Given the description of an element on the screen output the (x, y) to click on. 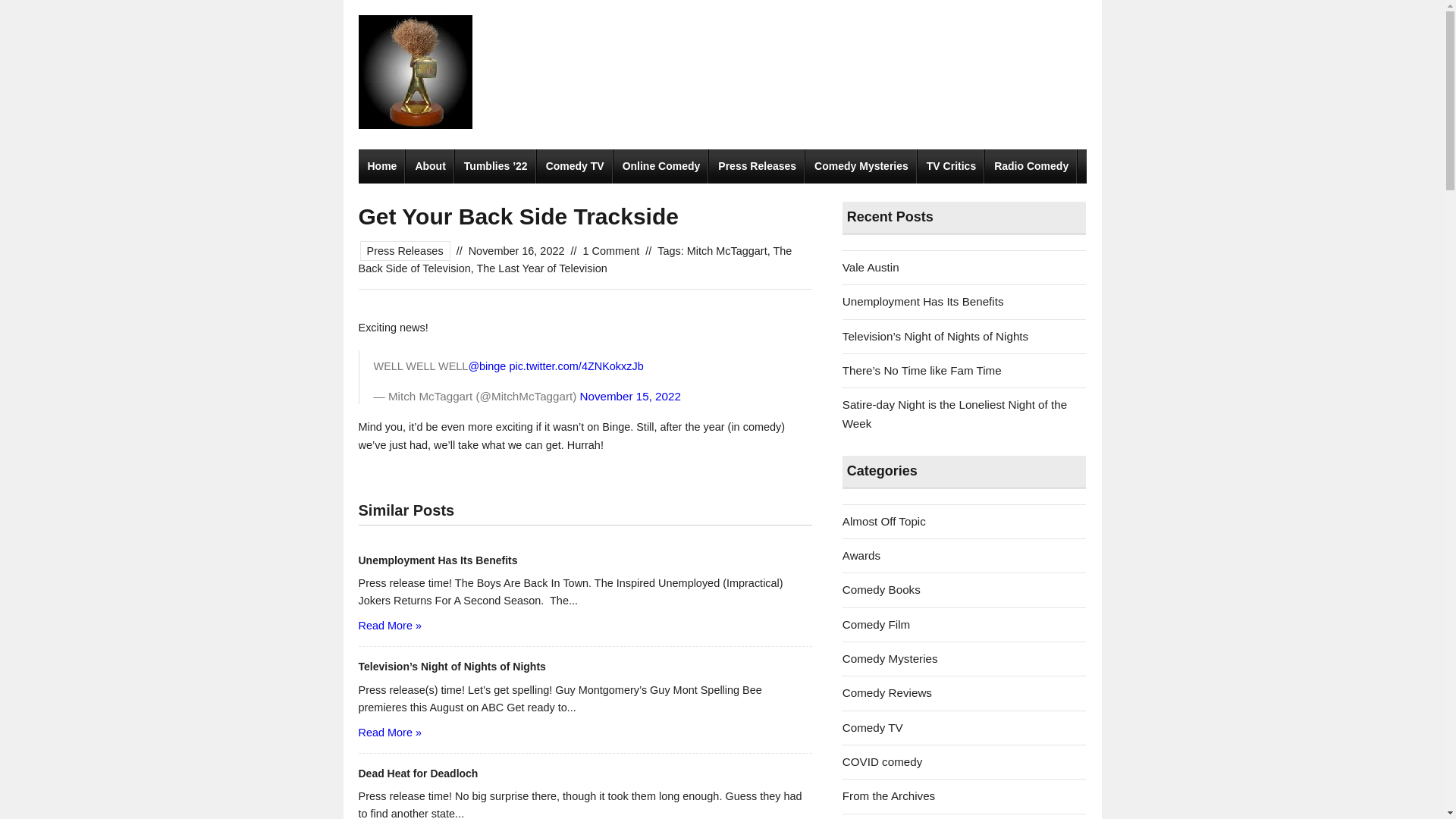
Radio Comedy (1031, 166)
Press Releases (404, 250)
1 Comment (611, 250)
TV Critics (951, 166)
Comedy Mysteries (861, 166)
Comedy TV (574, 166)
From the Archives (888, 795)
The Last Year of Television (541, 268)
Comedy Books (881, 589)
About (430, 166)
